Given the description of an element on the screen output the (x, y) to click on. 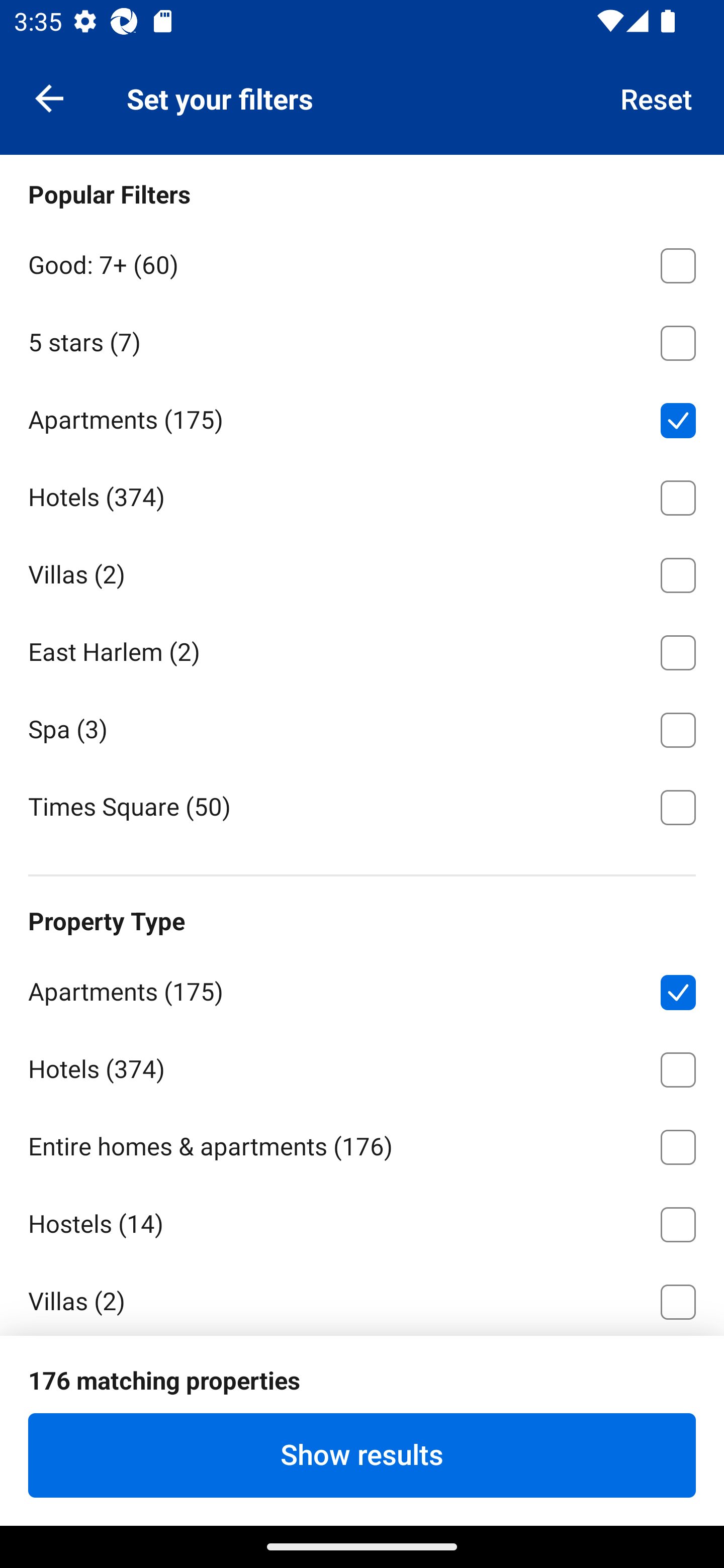
Navigate up (49, 97)
Reset (656, 97)
Good: 7+ ⁦(60) (361, 262)
5 stars ⁦(7) (361, 339)
Apartments ⁦(175) (361, 416)
Hotels ⁦(374) (361, 494)
Villas ⁦(2) (361, 571)
East Harlem ⁦(2) (361, 648)
Spa ⁦(3) (361, 726)
Times Square ⁦(50) (361, 805)
Apartments ⁦(175) (361, 988)
Hotels ⁦(374) (361, 1066)
Entire homes & apartments ⁦(176) (361, 1143)
Hostels ⁦(14) (361, 1221)
Villas ⁦(2) (361, 1297)
Vacation Homes ⁦(1) (361, 1375)
Show results (361, 1454)
